Given the description of an element on the screen output the (x, y) to click on. 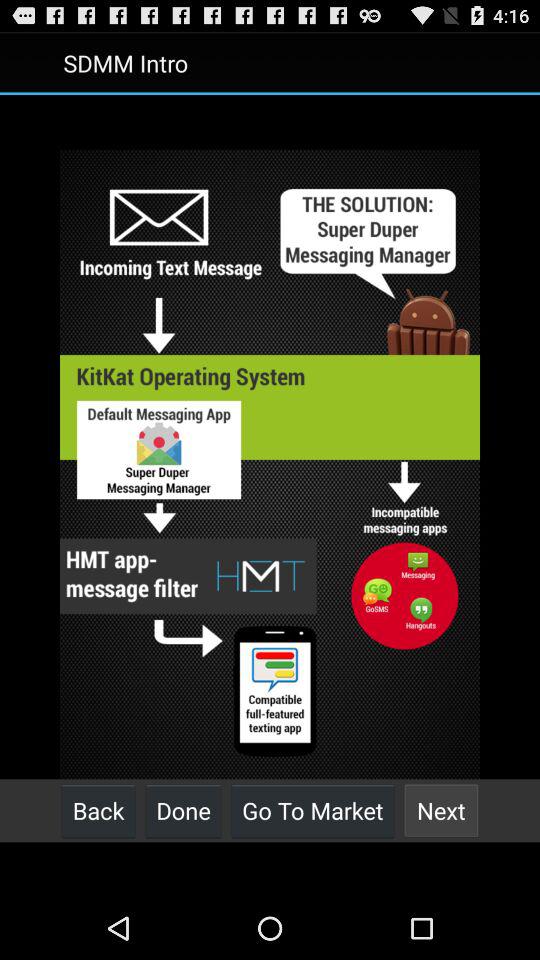
turn off the button next to the done icon (98, 810)
